Given the description of an element on the screen output the (x, y) to click on. 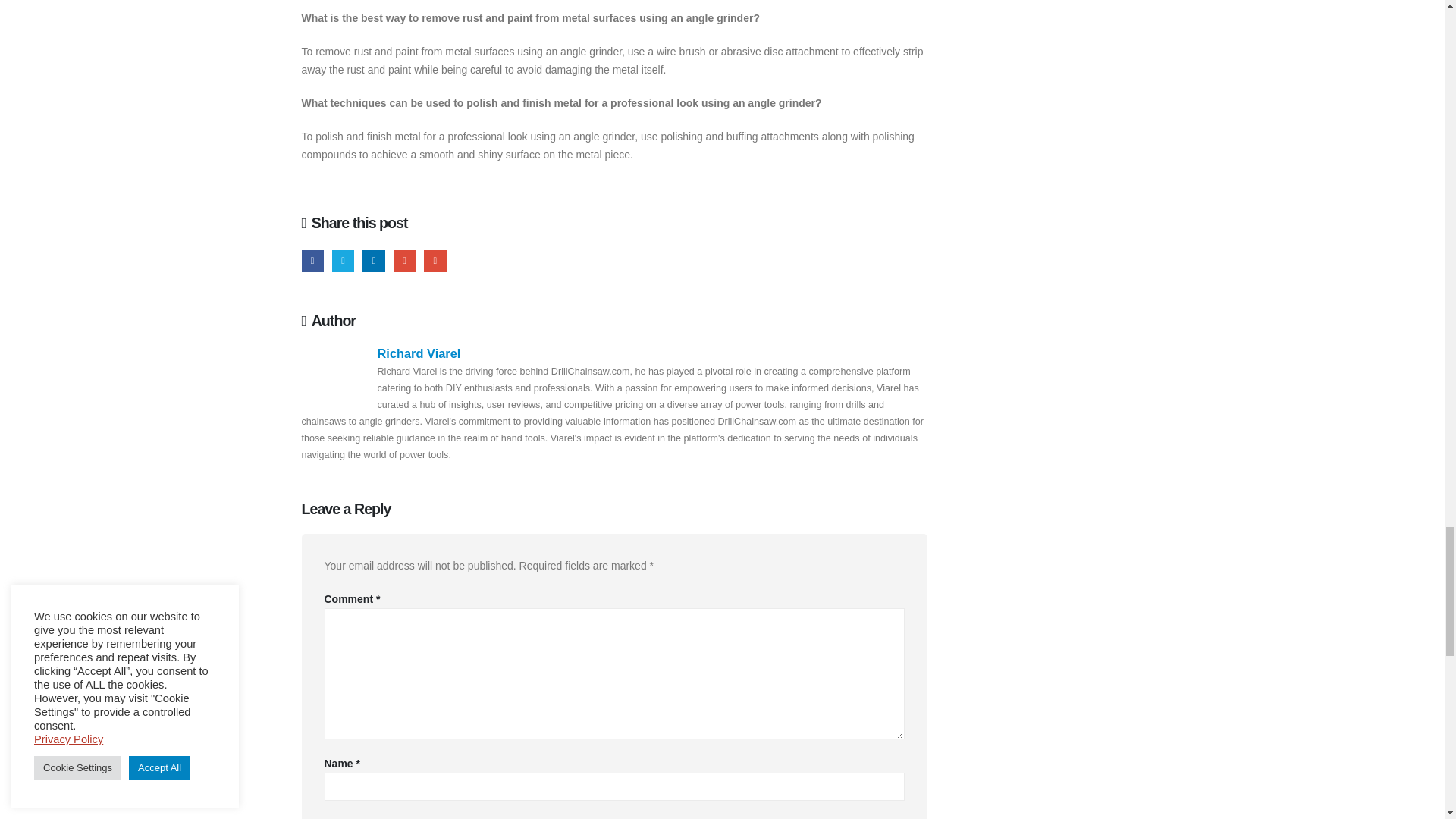
LinkedIn (373, 260)
Twitter (342, 260)
Email (434, 260)
Facebook (312, 260)
